Given the description of an element on the screen output the (x, y) to click on. 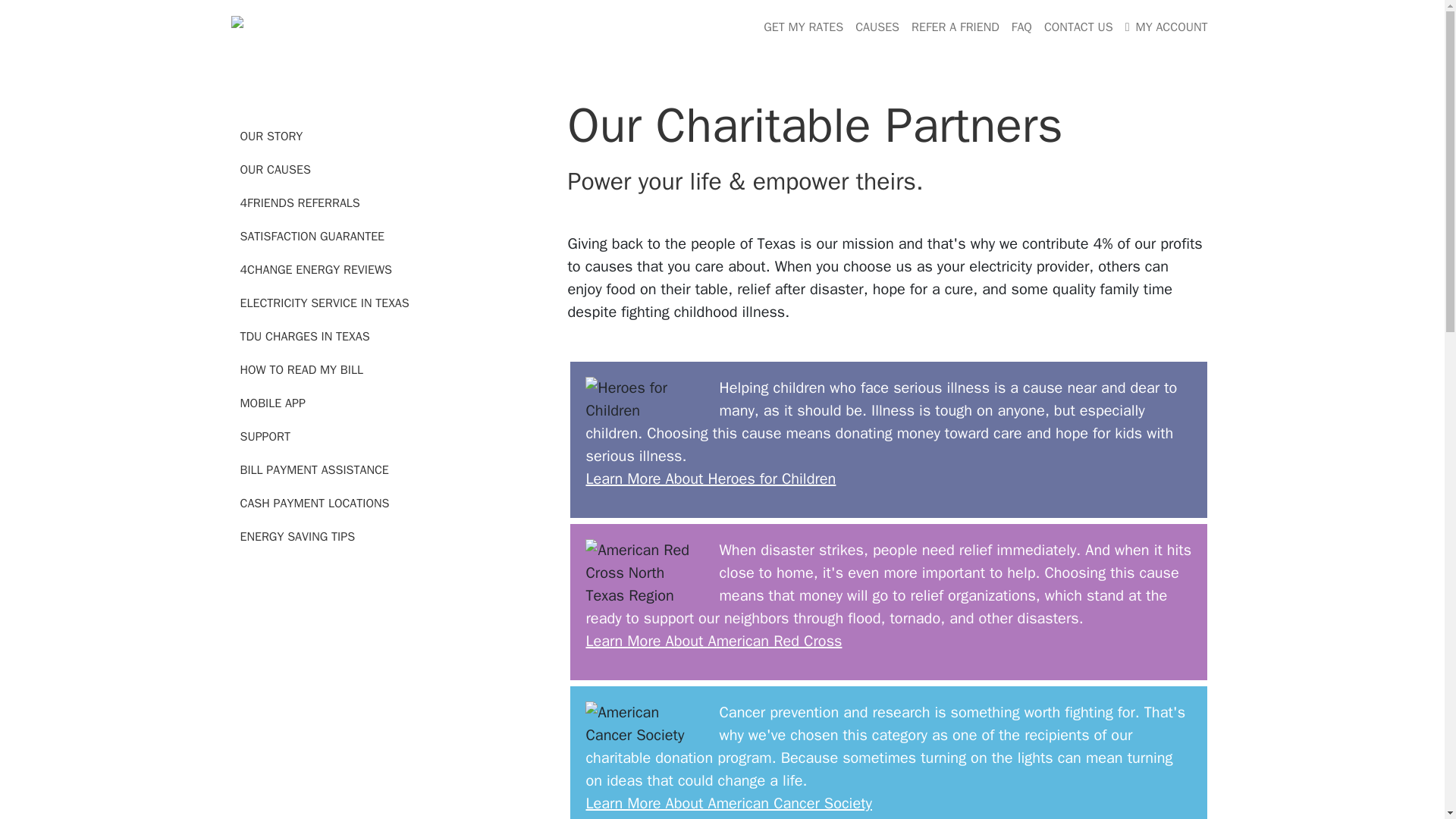
4CHANGE ENERGY REVIEWS (315, 269)
Electricity Service in Texas (324, 303)
4Change Energy Reviews (315, 269)
SUPPORT (264, 436)
CASH PAYMENT LOCATIONS (314, 503)
Learn More About American Red Cross (713, 640)
TDU Charges in Texas (304, 336)
4Friends Referrals (299, 202)
How to Read My Bill (301, 369)
CAUSES (876, 27)
